Given the description of an element on the screen output the (x, y) to click on. 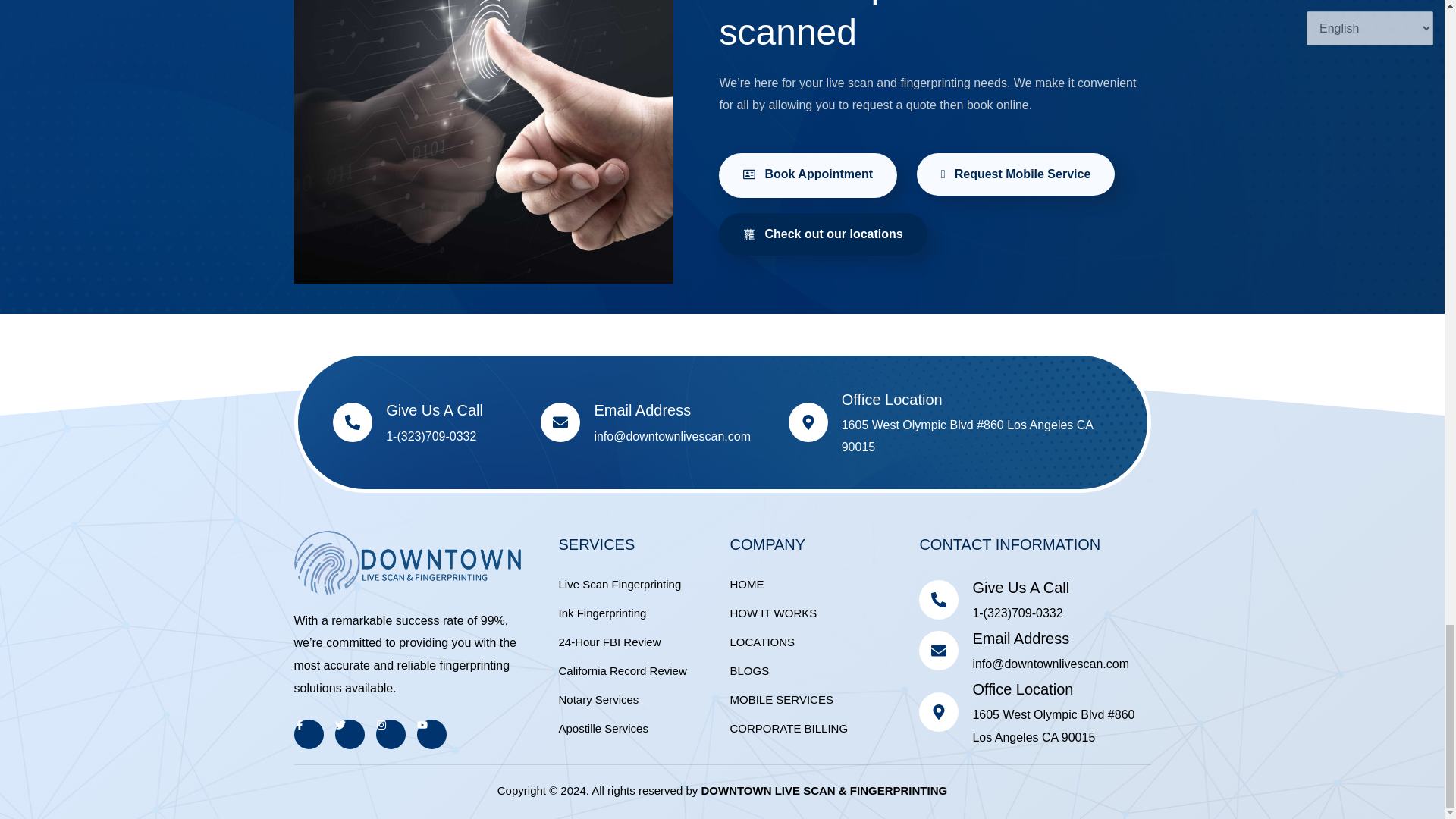
Apostille Services (639, 727)
Give Us A Call (434, 410)
Check out our locations (822, 233)
Notary Services (639, 699)
HOME (823, 584)
Email Address (642, 410)
Live Scan Fingerprinting (639, 584)
California Record Review (639, 670)
24-Hour FBI Review (639, 641)
Ink Fingerprinting (639, 613)
Request Mobile Service (1016, 174)
Book Appointment (807, 175)
Instagram (390, 734)
Facebook-f (308, 734)
Twitter (349, 734)
